Given the description of an element on the screen output the (x, y) to click on. 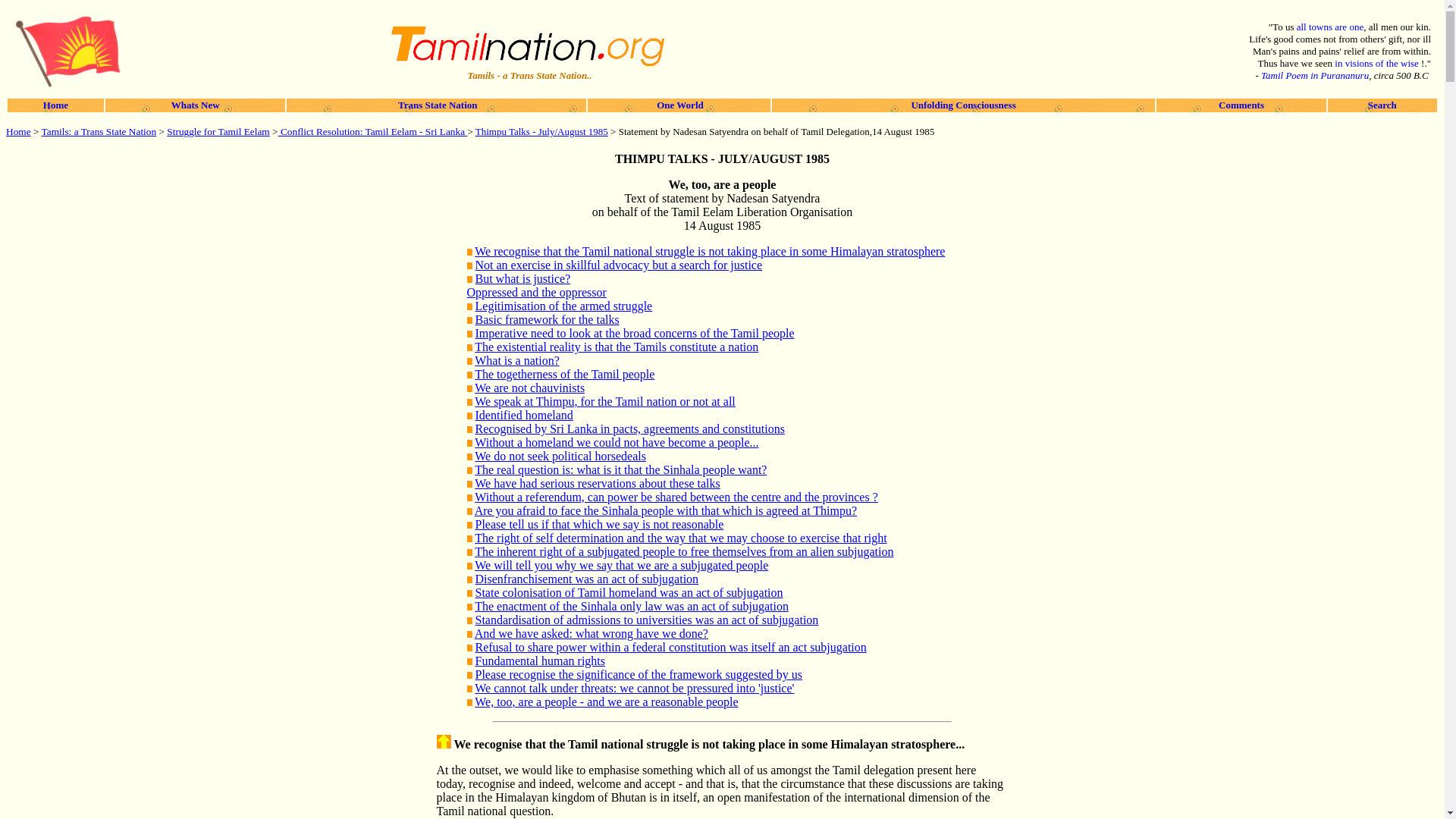
Tamils: a Trans State Nation (99, 131)
What is a nation? (516, 359)
 One World (678, 104)
 Trans State Nation (436, 104)
We have had serious reservations about these talks (597, 482)
Without a homeland we could not have become a people... (616, 441)
Oppressed and the oppressor (537, 291)
Legitimisation of the armed struggle (563, 305)
We are not chauvinists (529, 387)
Identified homeland (523, 414)
Unfolding Consciousness (962, 104)
